Given the description of an element on the screen output the (x, y) to click on. 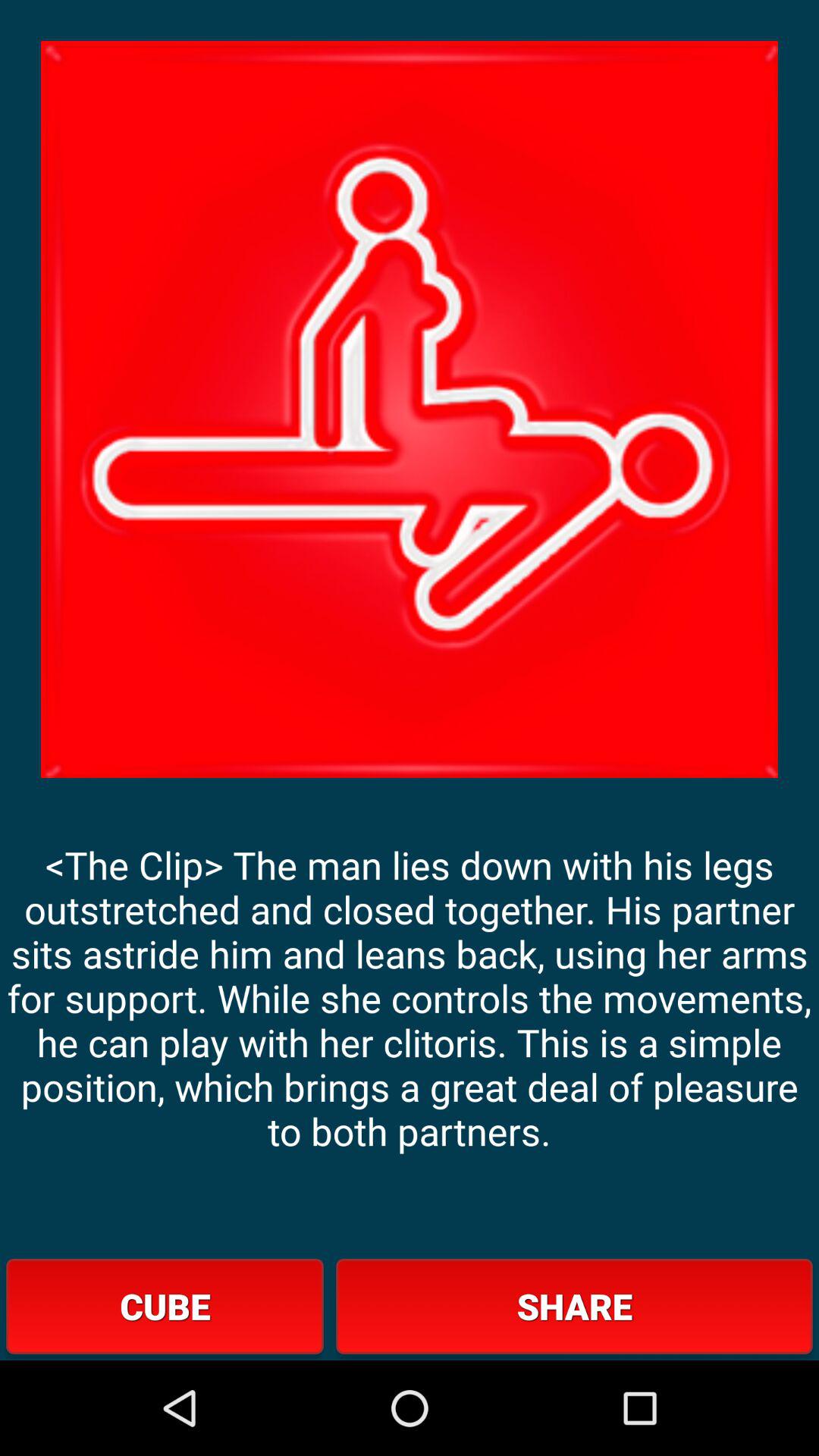
select button at the bottom right corner (574, 1306)
